Given the description of an element on the screen output the (x, y) to click on. 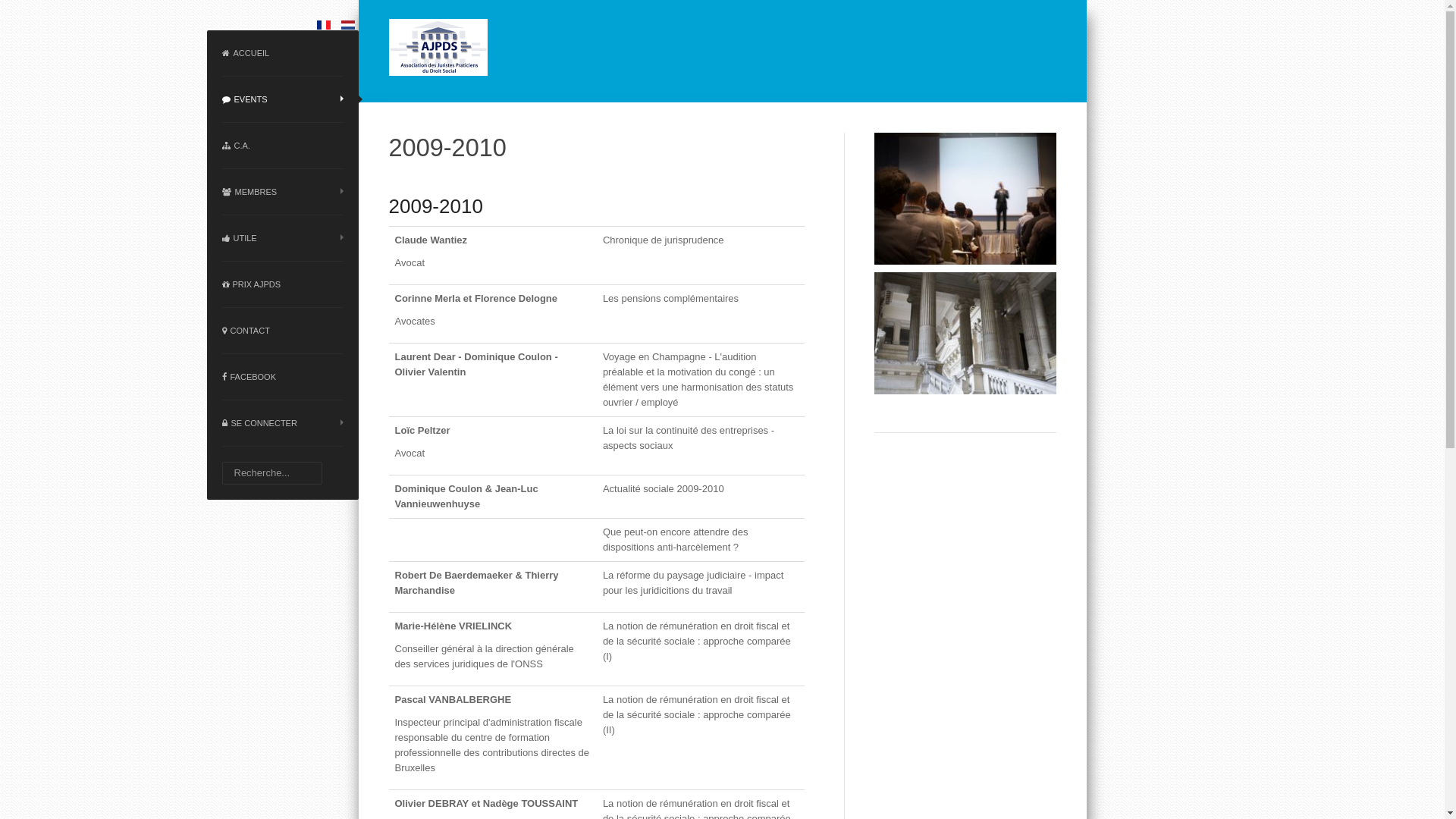
Nederlands Element type: hover (347, 24)
EVENTS Element type: text (281, 99)
C.A. Element type: text (281, 145)
UTILE Element type: text (281, 238)
MEMBRES Element type: text (281, 192)
PRIX AJPDS Element type: text (281, 284)
CONTACT Element type: text (281, 330)
2009-2010 Element type: text (435, 205)
ACCUEIL Element type: text (281, 53)
FACEBOOK Element type: text (281, 377)
SE CONNECTER Element type: text (281, 423)
